Given the description of an element on the screen output the (x, y) to click on. 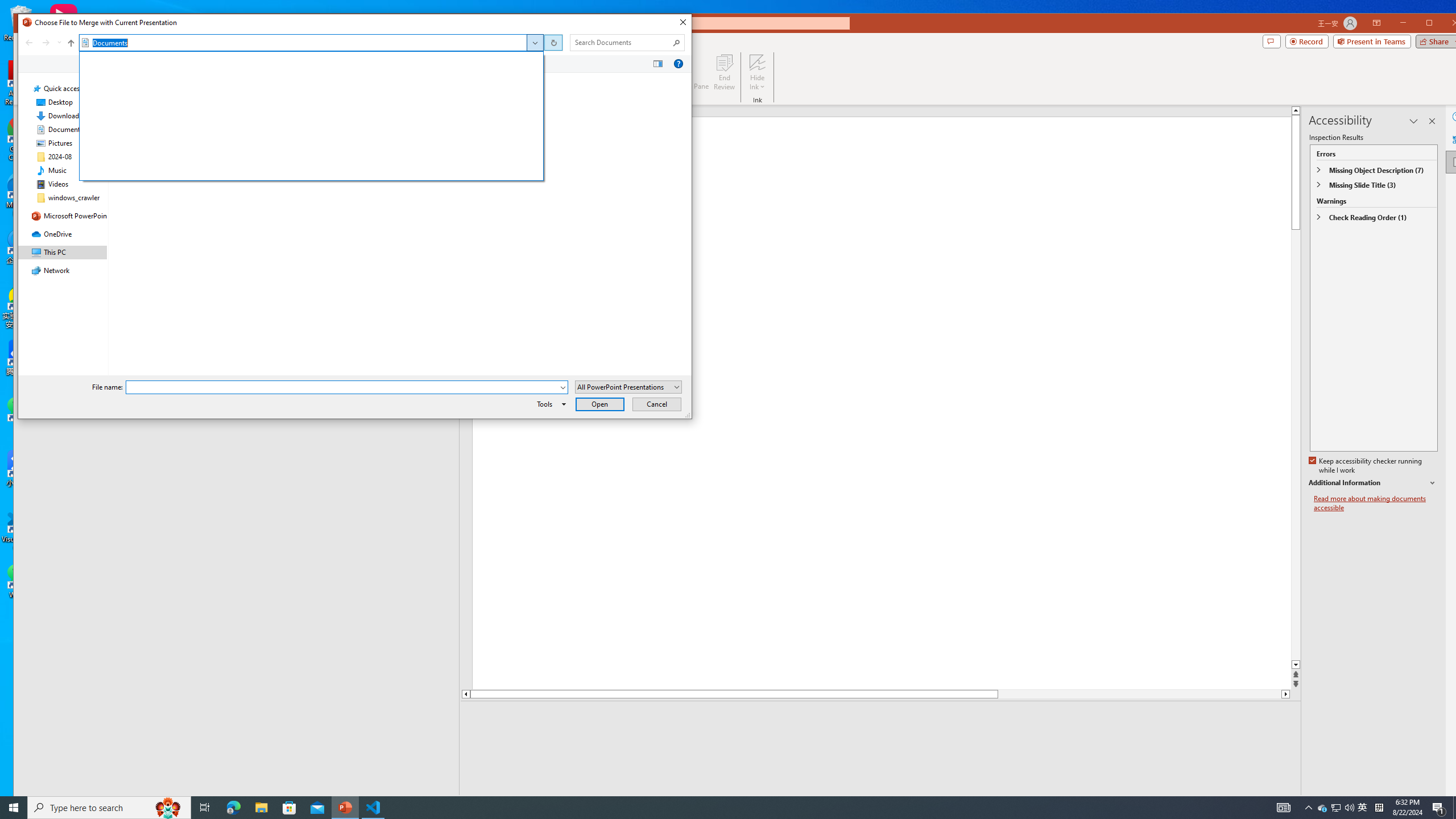
Address (309, 42)
Address (535, 42)
Slide Show Previous On (1217, 802)
File name: (342, 387)
Notification Chevron (1308, 807)
Cancel (656, 404)
Name (196, 120)
Microsoft Store (289, 807)
Class: UIImage (124, 120)
Size (436, 120)
Microsoft Edge (233, 807)
Refresh "Documents" (F5) (552, 42)
